Given the description of an element on the screen output the (x, y) to click on. 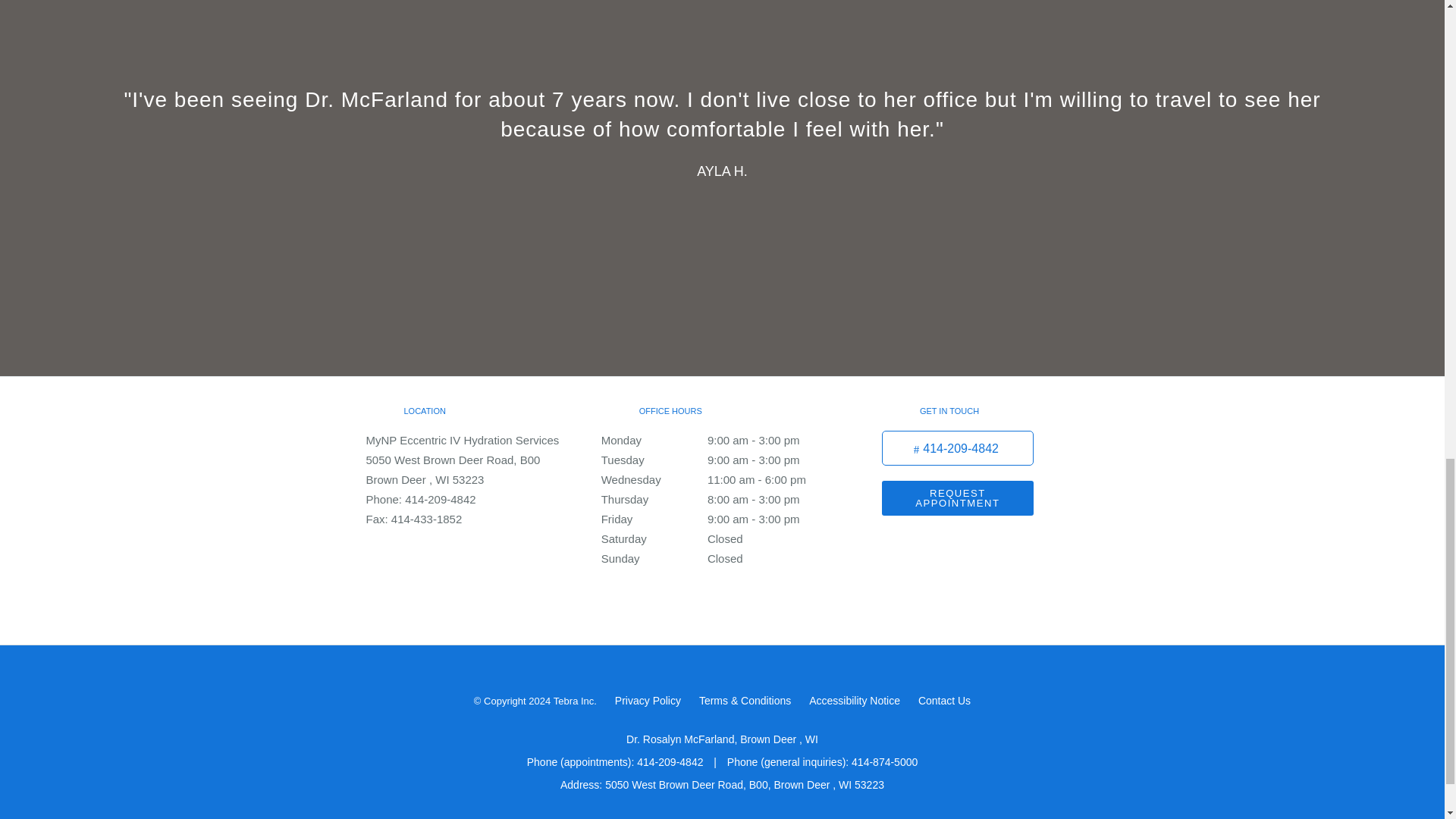
REQUEST APPOINTMENT (957, 497)
414-209-4842 (957, 448)
Accessibility Notice (854, 700)
Privacy Policy (647, 700)
Tebra Inc (573, 701)
Contact Us (944, 700)
